Given the description of an element on the screen output the (x, y) to click on. 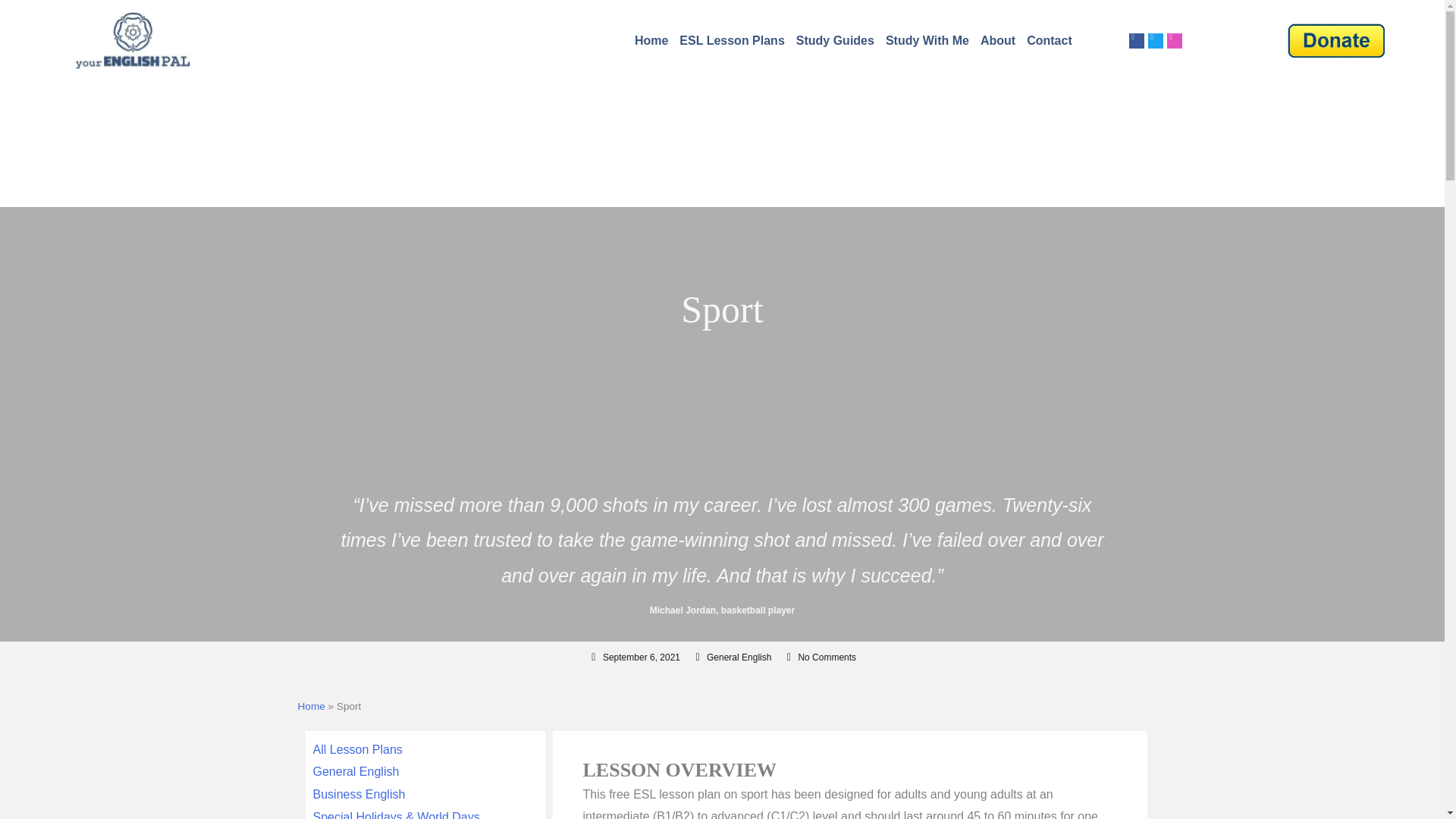
Study With Me (927, 40)
ESL Lesson Plans (731, 40)
About (997, 40)
Study Guides (834, 40)
Home (650, 40)
Contact (1049, 40)
